Given the description of an element on the screen output the (x, y) to click on. 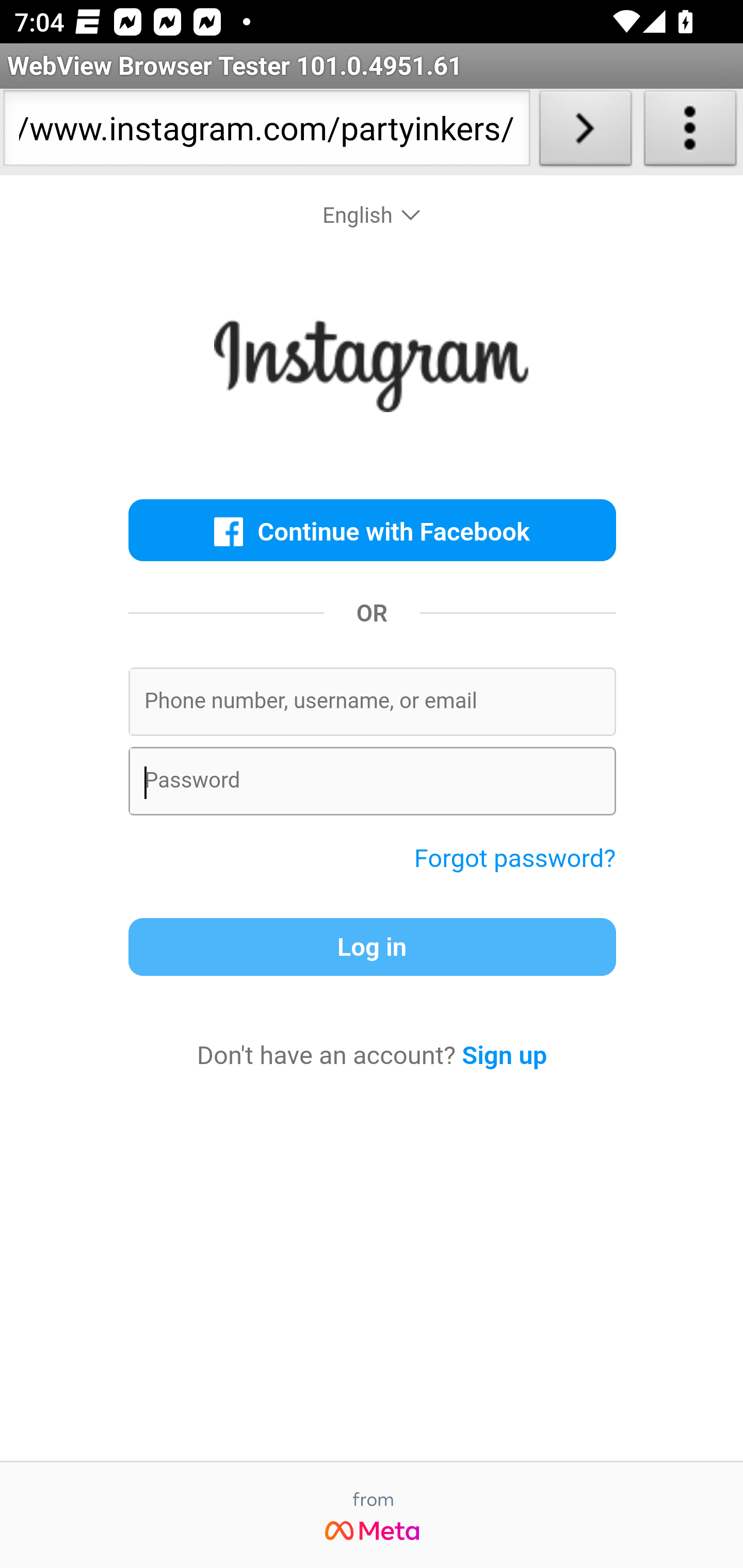
https://www.instagram.com/partyinkers/ (266, 132)
Load URL (585, 132)
About WebView (690, 132)
English (372, 215)
Instagram (372, 369)
Continue with Facebook (371, 529)
Forgot password? (515, 857)
Log in (371, 946)
Sign up (504, 1054)
